Given the description of an element on the screen output the (x, y) to click on. 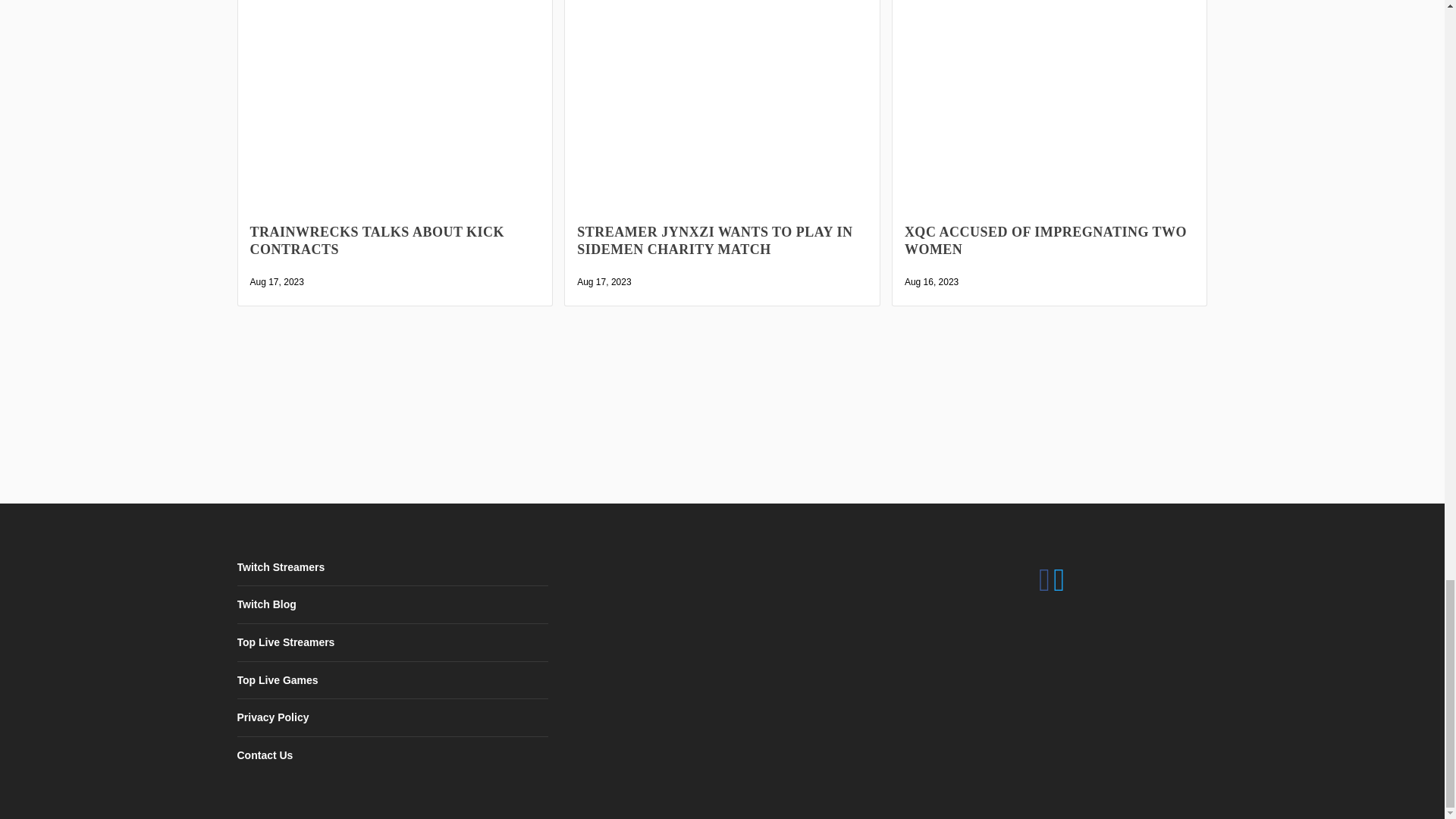
XQC ACCUSED OF IMPREGNATING TWO WOMEN (1049, 129)
STREAMER JYNXZI WANTS TO PLAY IN SIDEMEN CHARITY MATCH (721, 129)
TRAINWRECKS TALKS ABOUT KICK CONTRACTS (395, 129)
